Given the description of an element on the screen output the (x, y) to click on. 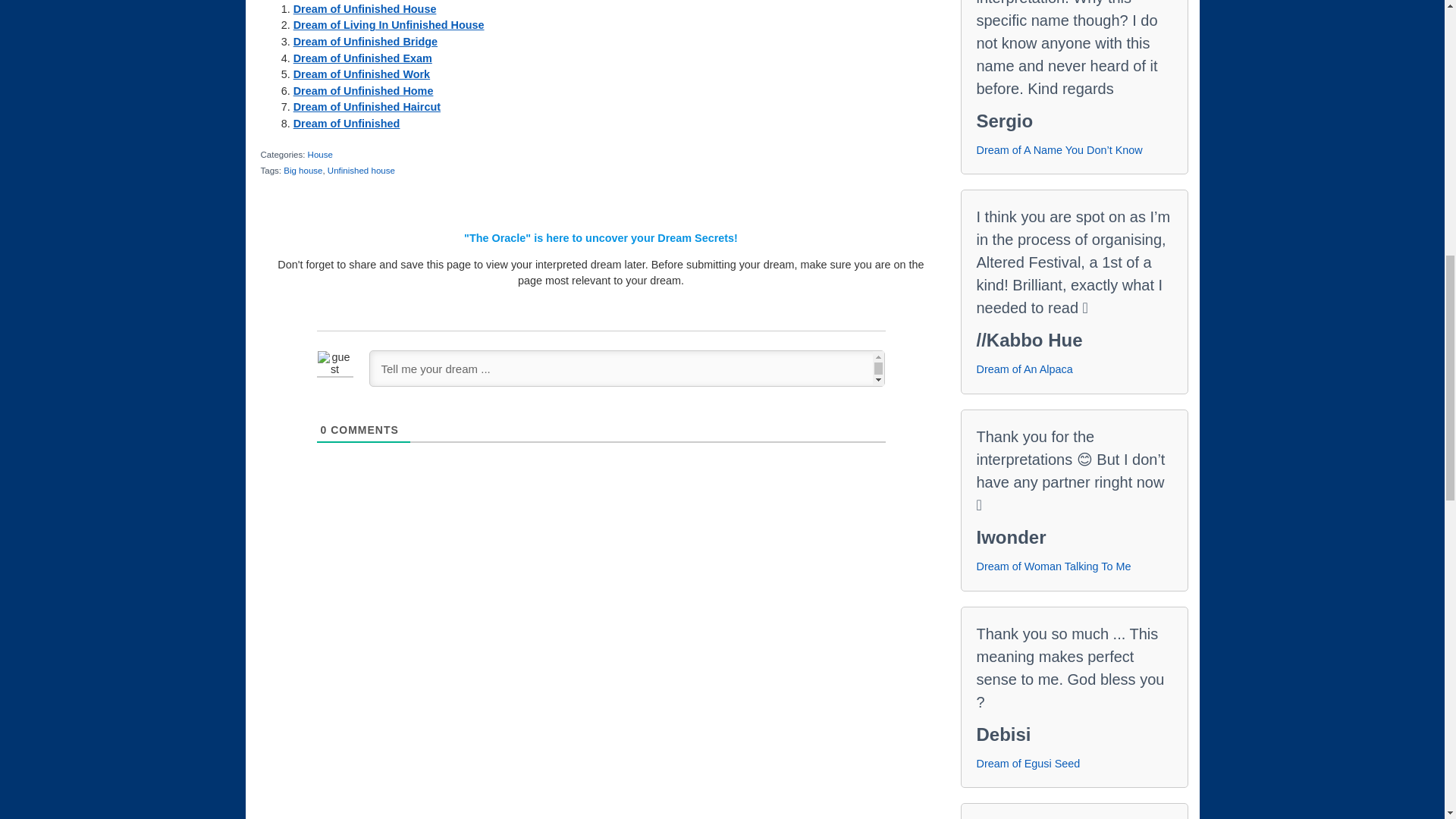
Dream of Unfinished Bridge (366, 41)
Dream of Unfinished House (365, 9)
Dream of Unfinished Bridge (366, 41)
House (320, 153)
Big house (302, 170)
Dream of Living In Unfinished House (389, 24)
Dream of Unfinished Work (361, 73)
Dream of Living In Unfinished House (389, 24)
Dream of Unfinished Haircut (367, 106)
Unfinished house (360, 170)
Dream of Unfinished (347, 123)
Dream of Unfinished Exam (363, 58)
Dream of Unfinished Exam (363, 58)
Dream of Unfinished Haircut (367, 106)
Dream of Egusi Seed (1028, 763)
